Given the description of an element on the screen output the (x, y) to click on. 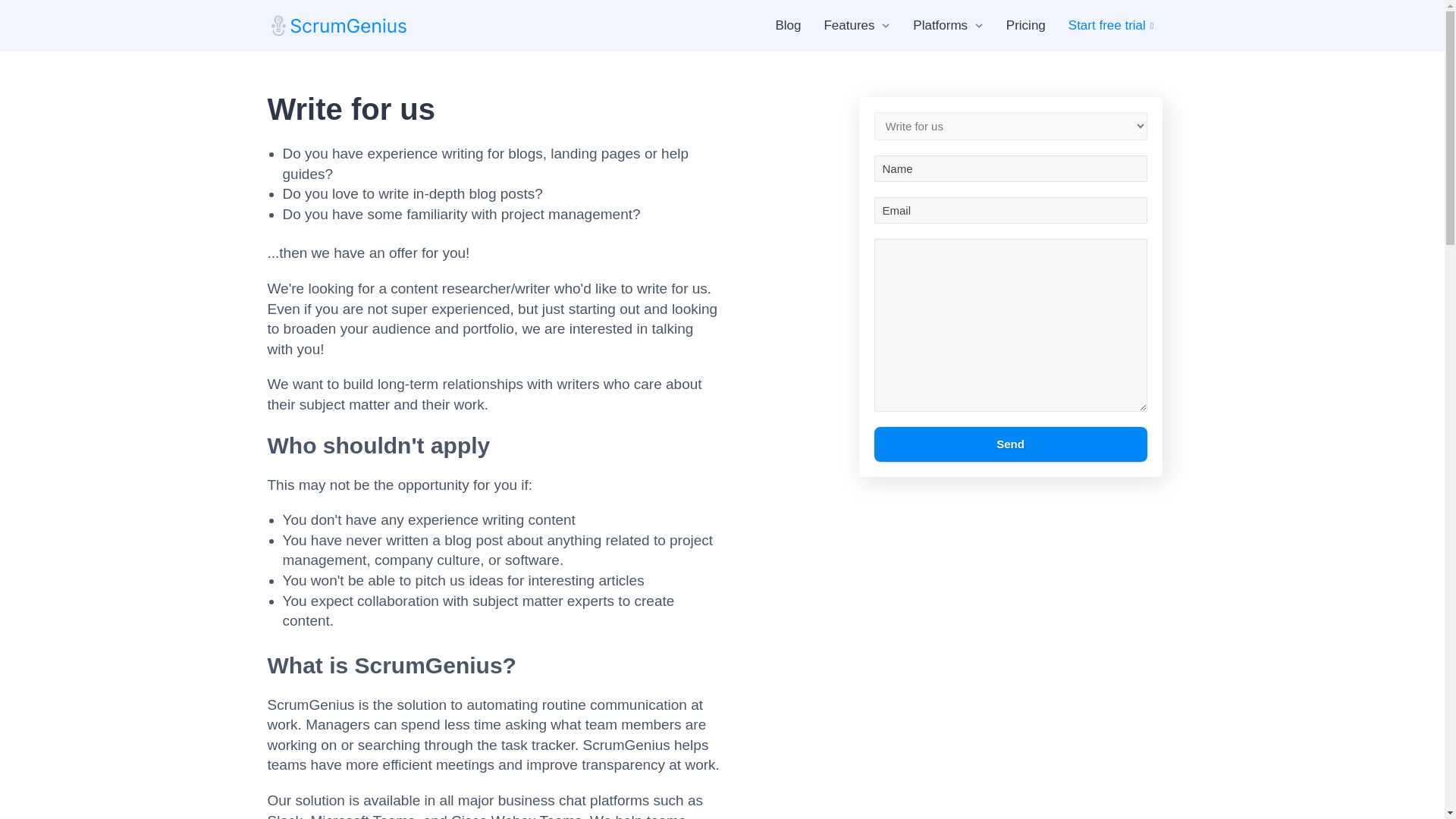
Blog (787, 25)
Platforms (940, 25)
Send (1010, 443)
Send (1010, 443)
Start free trial (1113, 25)
Features (849, 25)
Pricing (1025, 25)
